Given the description of an element on the screen output the (x, y) to click on. 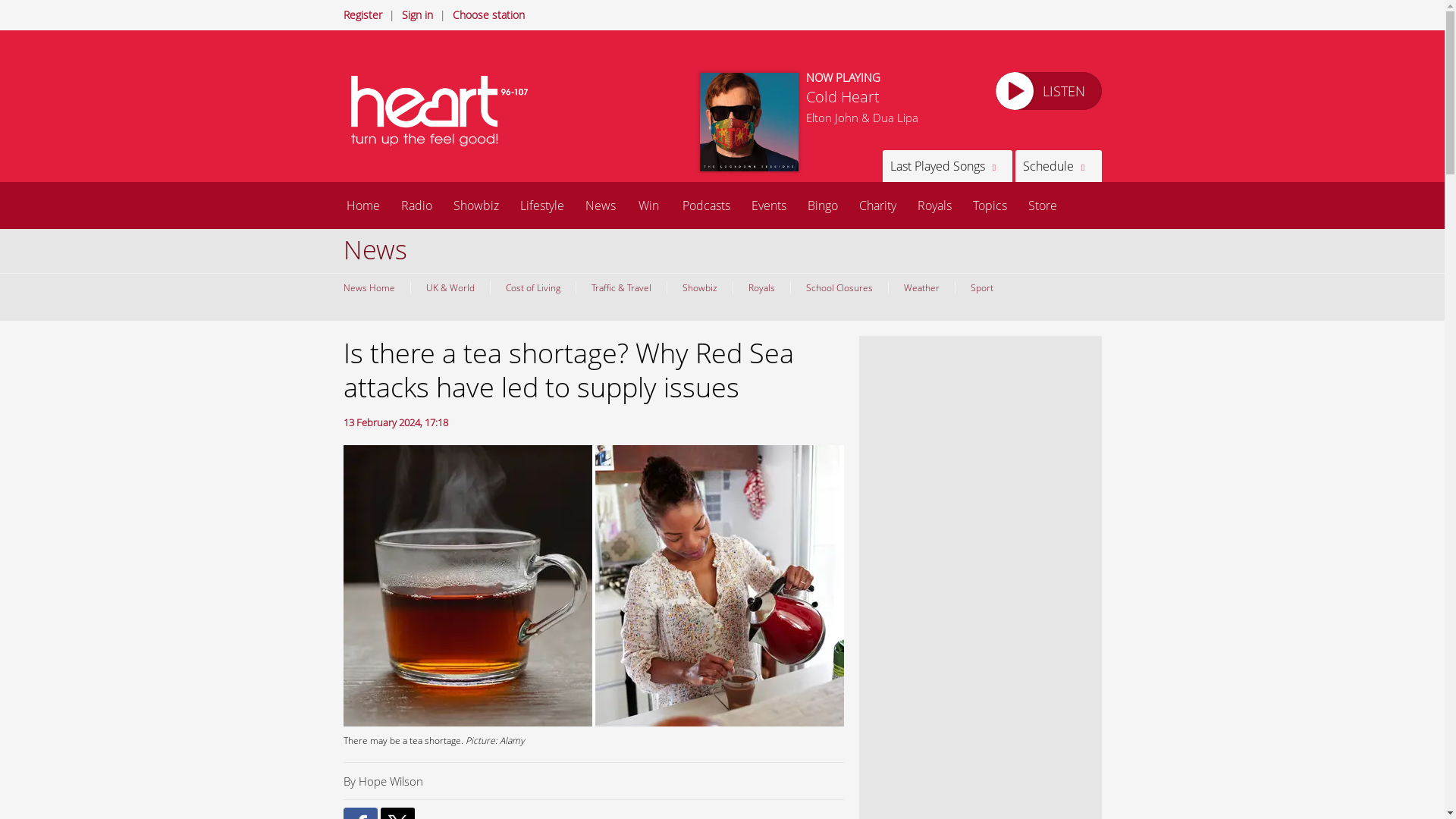
Store (1042, 205)
School Closures (839, 287)
Weather (919, 287)
Schedule (1057, 165)
Radio (416, 205)
Topics (988, 205)
Podcasts (706, 205)
Win (648, 205)
Bingo (821, 205)
Lifestyle (542, 205)
Cost of Living (532, 287)
Events (767, 205)
LISTEN (1047, 90)
News Home (371, 287)
Sign in (416, 14)
